Given the description of an element on the screen output the (x, y) to click on. 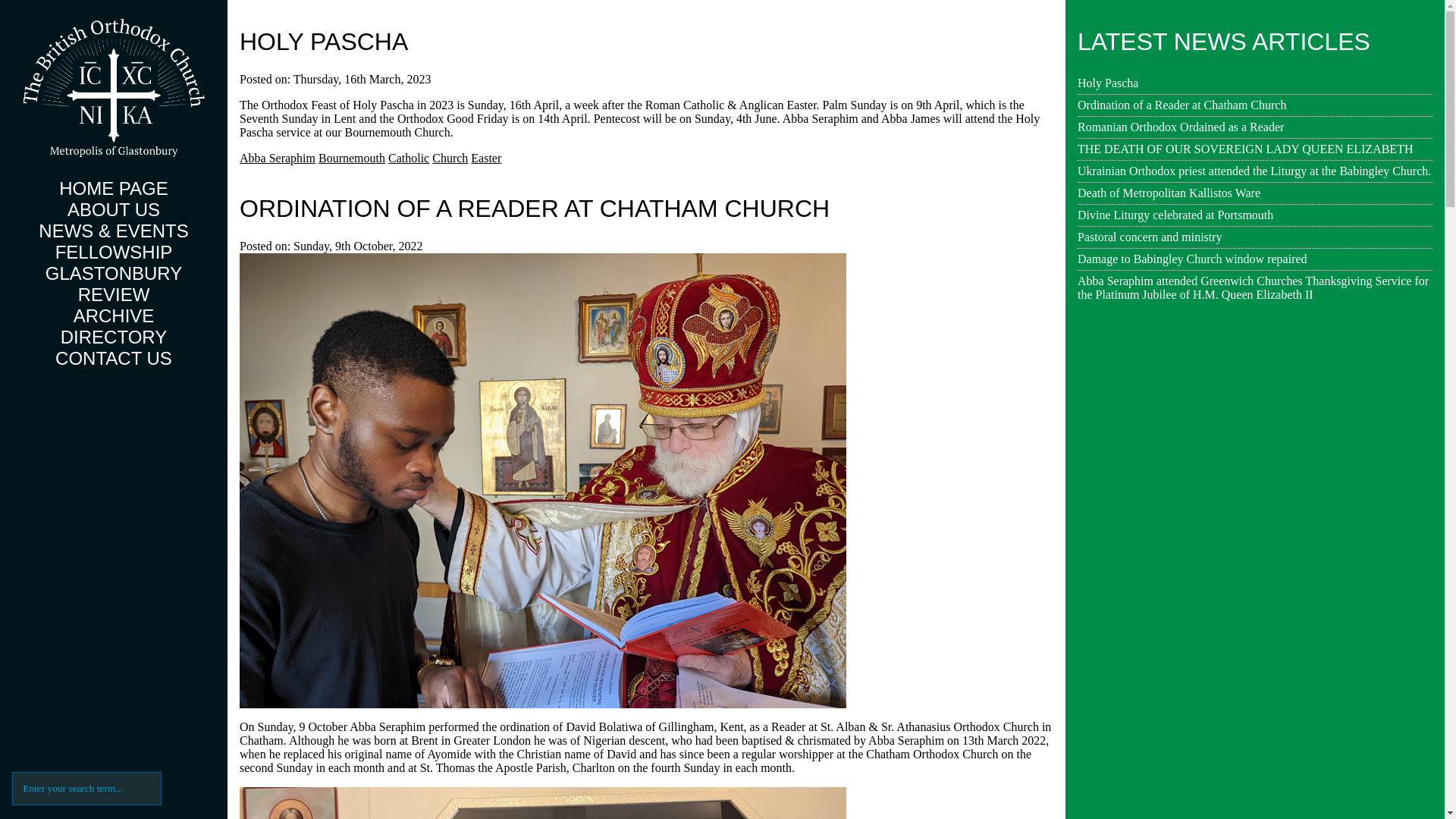
ARCHIVE (114, 315)
Holy Pascha (323, 41)
GLASTONBURY REVIEW (114, 283)
Bournemouth (351, 157)
ABOUT US (113, 209)
FELLOWSHIP (114, 251)
Ordination of a Reader at Chatham Church (534, 207)
HOLY PASCHA (323, 41)
Easter (485, 157)
Abba Seraphim (277, 157)
Church (449, 157)
Catholic (408, 157)
CONTACT US (113, 358)
ORDINATION OF A READER AT CHATHAM CHURCH (534, 207)
DIRECTORY (114, 336)
